Given the description of an element on the screen output the (x, y) to click on. 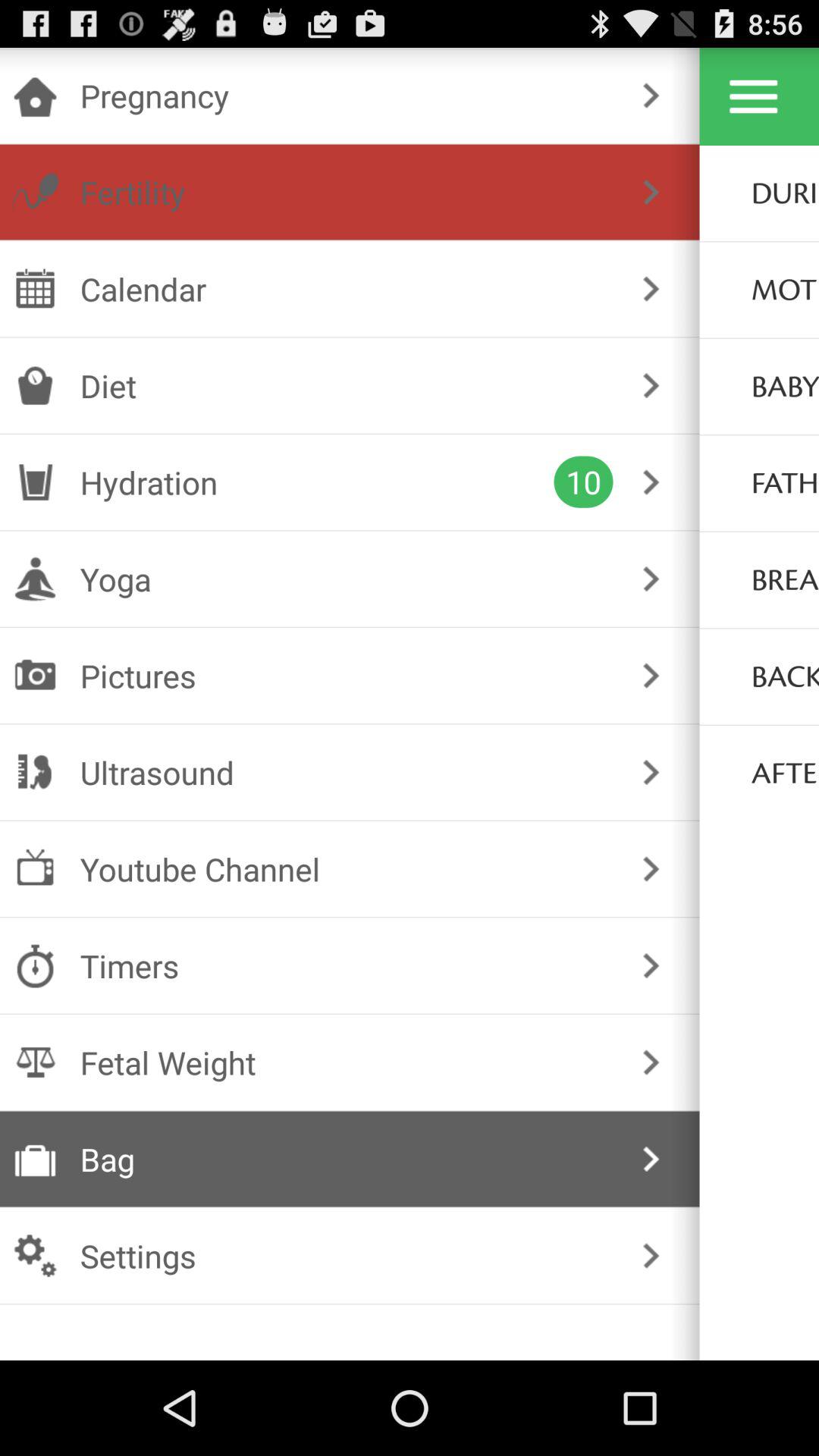
launch fertility (346, 191)
